Given the description of an element on the screen output the (x, y) to click on. 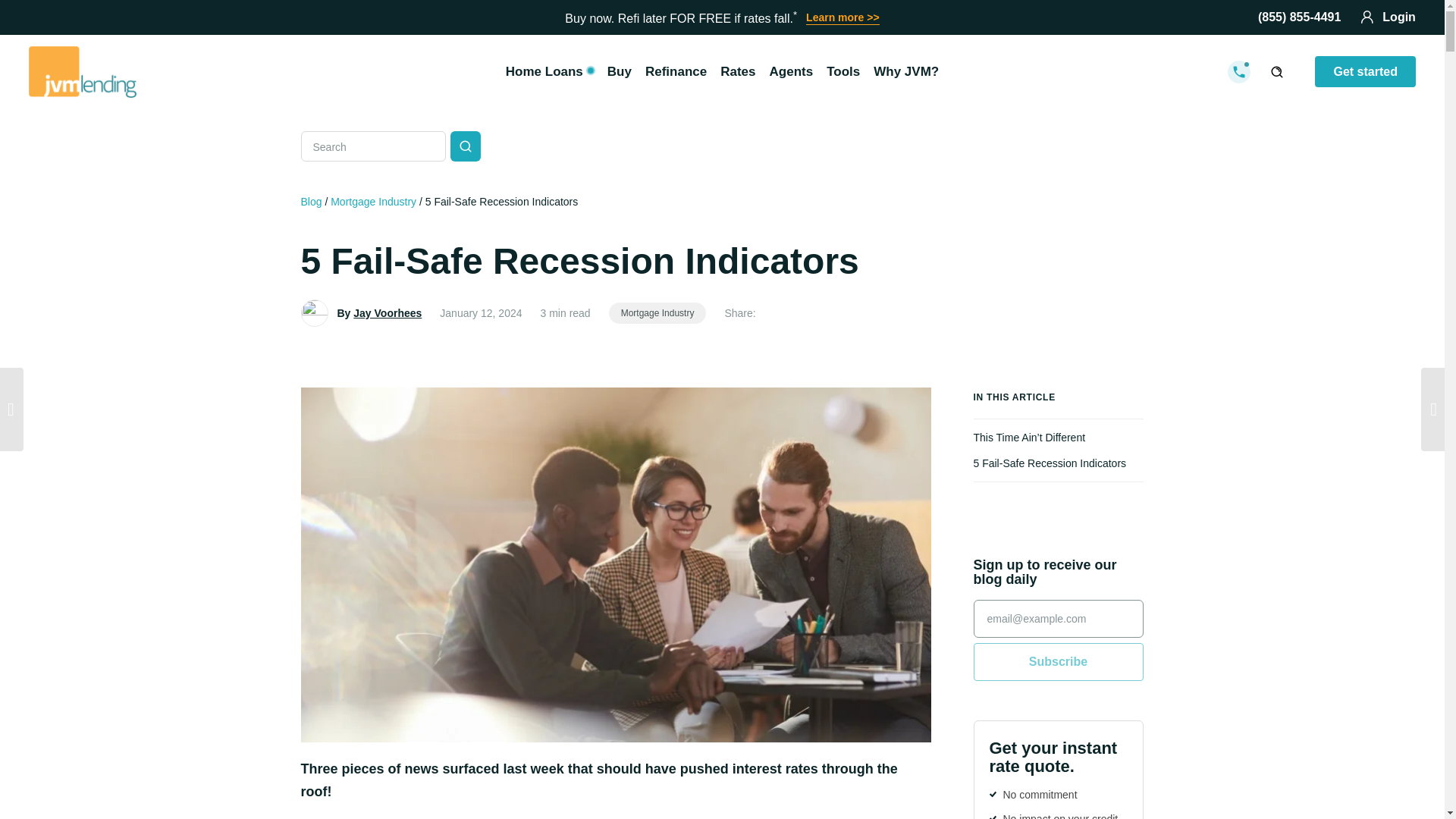
Subscribe (1058, 661)
Phone (1298, 17)
Login (1388, 17)
Refinance (676, 71)
Search (464, 146)
Home Loans (549, 71)
Login (1388, 17)
